Given the description of an element on the screen output the (x, y) to click on. 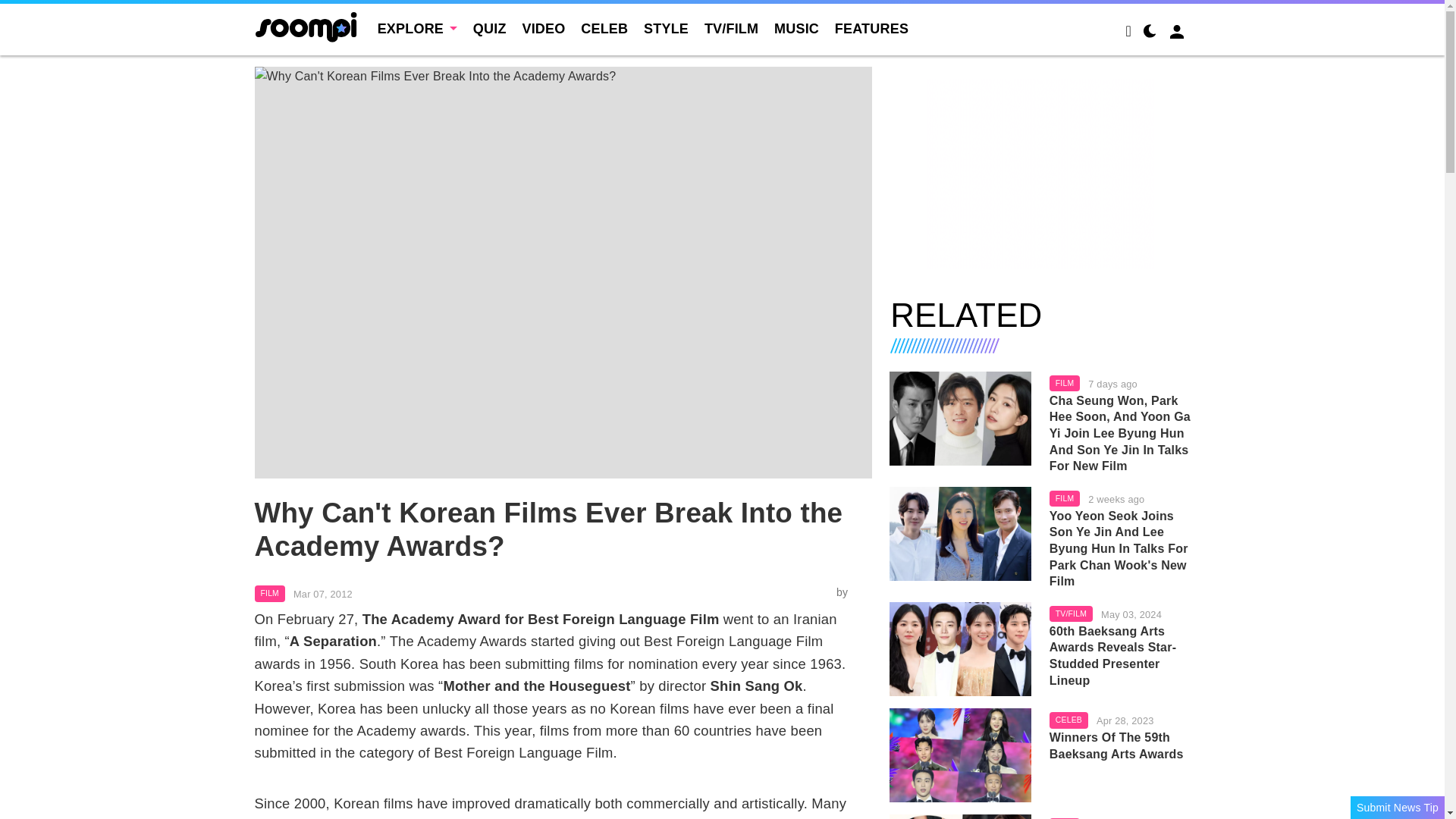
FEATURES (871, 28)
Night Mode Toggle (1149, 33)
EXPLORE (417, 28)
Film (1064, 383)
MUSIC (796, 28)
3rd party ad content (1040, 173)
FILM (269, 593)
STYLE (665, 28)
QUIZ (489, 28)
CELEB (603, 28)
Film (269, 593)
VIDEO (542, 28)
